Given the description of an element on the screen output the (x, y) to click on. 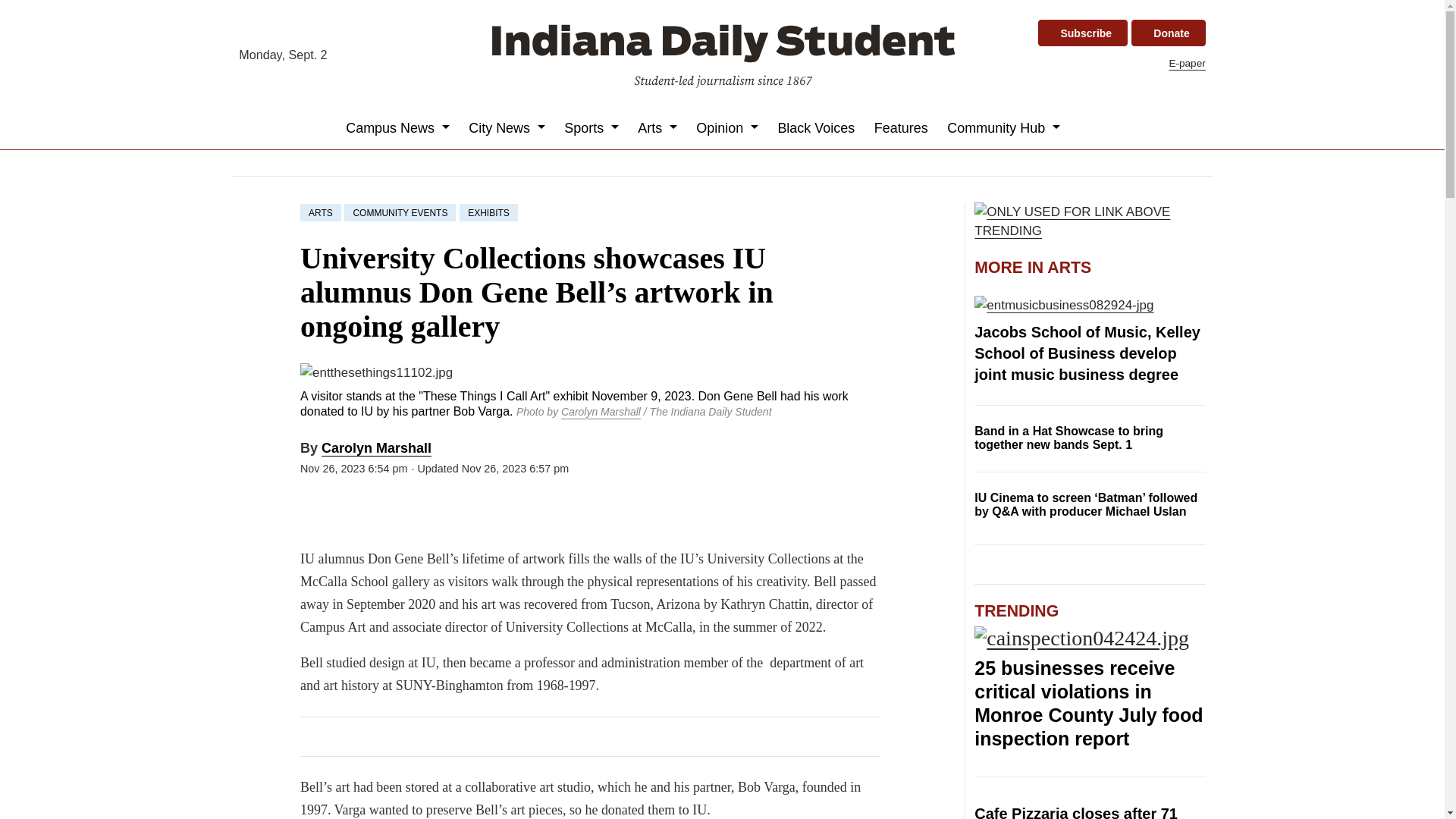
Donate (1168, 32)
Cafe Pizzaria closes after 71 years  (1075, 812)
Sports (591, 127)
Features (900, 127)
Black Voices (816, 127)
Subscribe (1082, 32)
Campus News (398, 127)
